Given the description of an element on the screen output the (x, y) to click on. 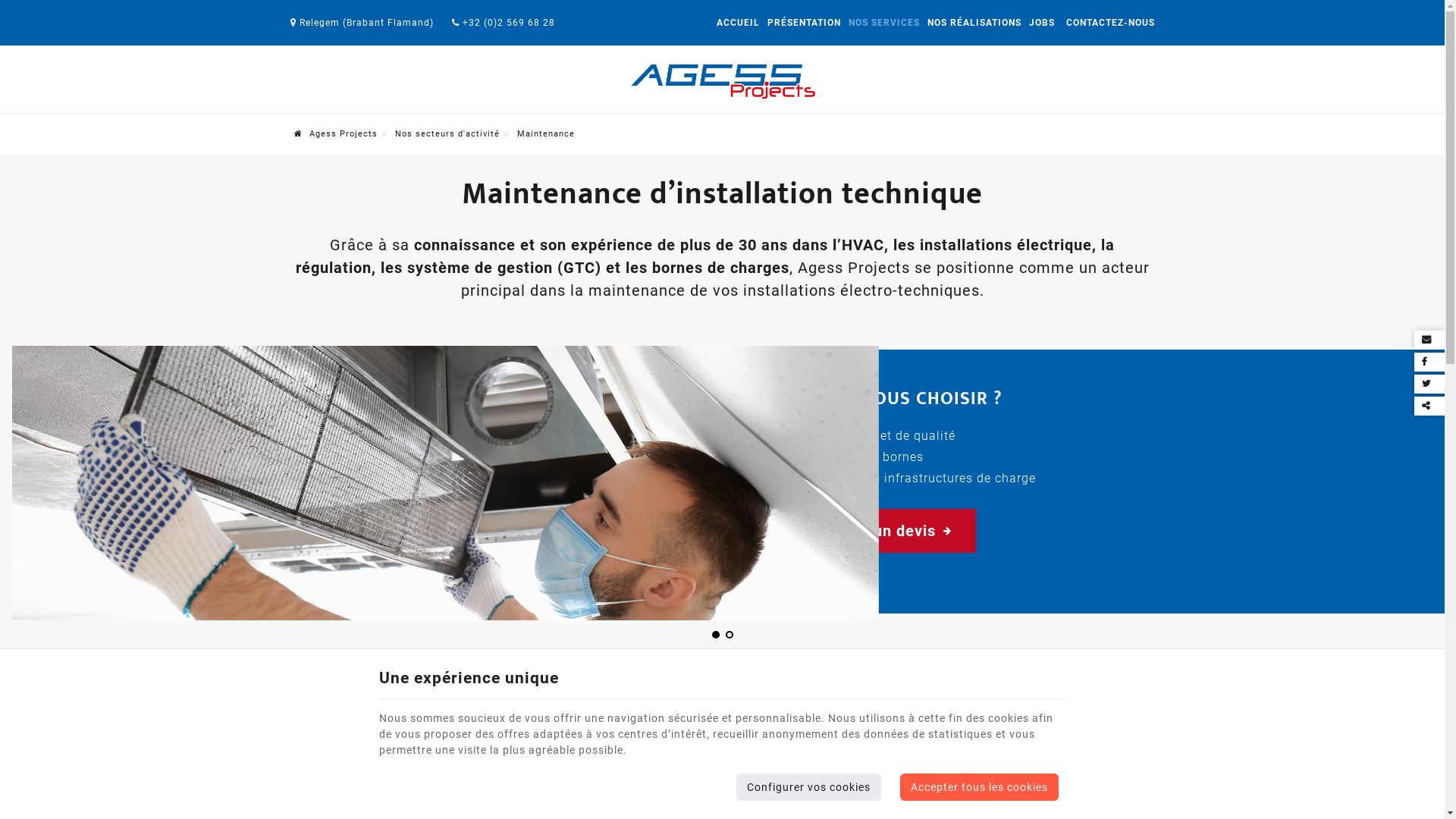
Contactez-nous Element type: text (773, 315)
Demandez un devis Element type: text (782, 336)
Demandez un devis Element type: text (870, 530)
Partager ce contenu Element type: text (1433, 405)
NOS SERVICES Element type: text (883, 22)
E-net Business Element type: text (567, 603)
Agess Projects Element type: hover (721, 81)
Accueil Element type: text (530, 317)
Relegem (Brabant Flamand) Element type: text (361, 22)
Contactez-nous Element type: text (554, 439)
JOBS Element type: text (1041, 22)
CONTACTEZ-NOUS Element type: text (1106, 22)
Nos services Element type: text (545, 366)
GDPR Element type: hover (304, 350)
ACCUEIL Element type: text (737, 22)
HTTPS Element type: hover (304, 298)
Nos services en ligne Element type: text (800, 286)
Agess Projects Element type: text (335, 133)
SPF Element type: hover (304, 401)
Configurer vos cookies Element type: text (808, 786)
Nos partenaires web Element type: text (856, 576)
Cookies Element type: text (792, 562)
Accepter tous les cookies Element type: text (979, 786)
Contactez-nous Element type: text (721, 784)
+32 (0)2 569 68 28 Element type: text (503, 22)
Jobs Element type: text (524, 414)
